Given the description of an element on the screen output the (x, y) to click on. 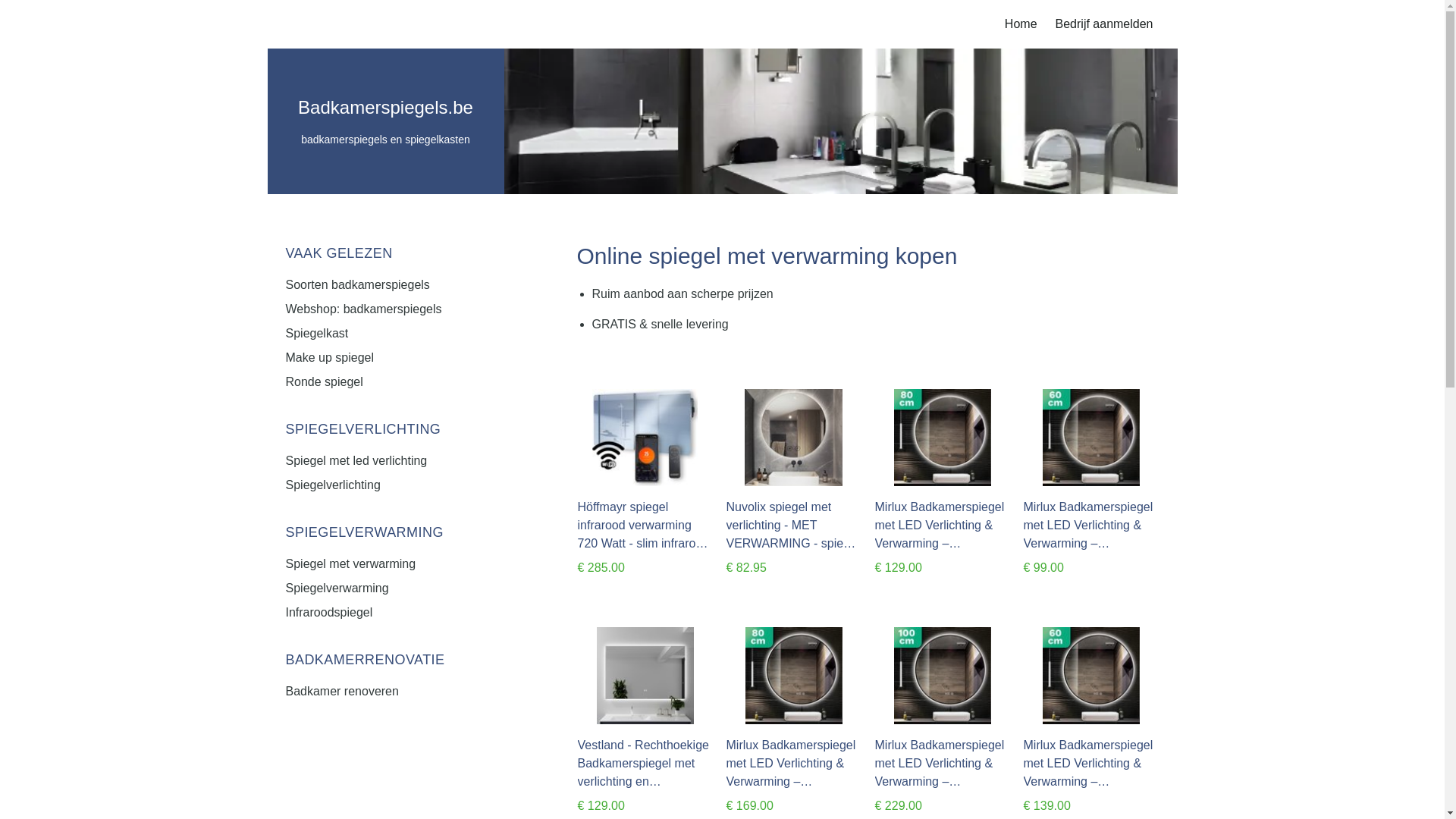
Spiegelkast Element type: text (388, 333)
Ronde spiegel Element type: text (388, 382)
Infraroodspiegel Element type: text (388, 612)
Badkamerspiegels.be Element type: text (385, 107)
Bedrijf aanmelden Element type: text (1104, 23)
Soorten badkamerspiegels Element type: text (388, 285)
Spiegelverwarming Element type: text (388, 588)
Webshop: badkamerspiegels Element type: text (388, 309)
Home Element type: text (1020, 23)
Make up spiegel Element type: text (388, 357)
Spiegelverlichting Element type: text (388, 485)
Spiegel met verwarming Element type: text (388, 564)
Spiegel met led verlichting Element type: text (388, 460)
Badkamer renoveren Element type: text (388, 691)
